Given the description of an element on the screen output the (x, y) to click on. 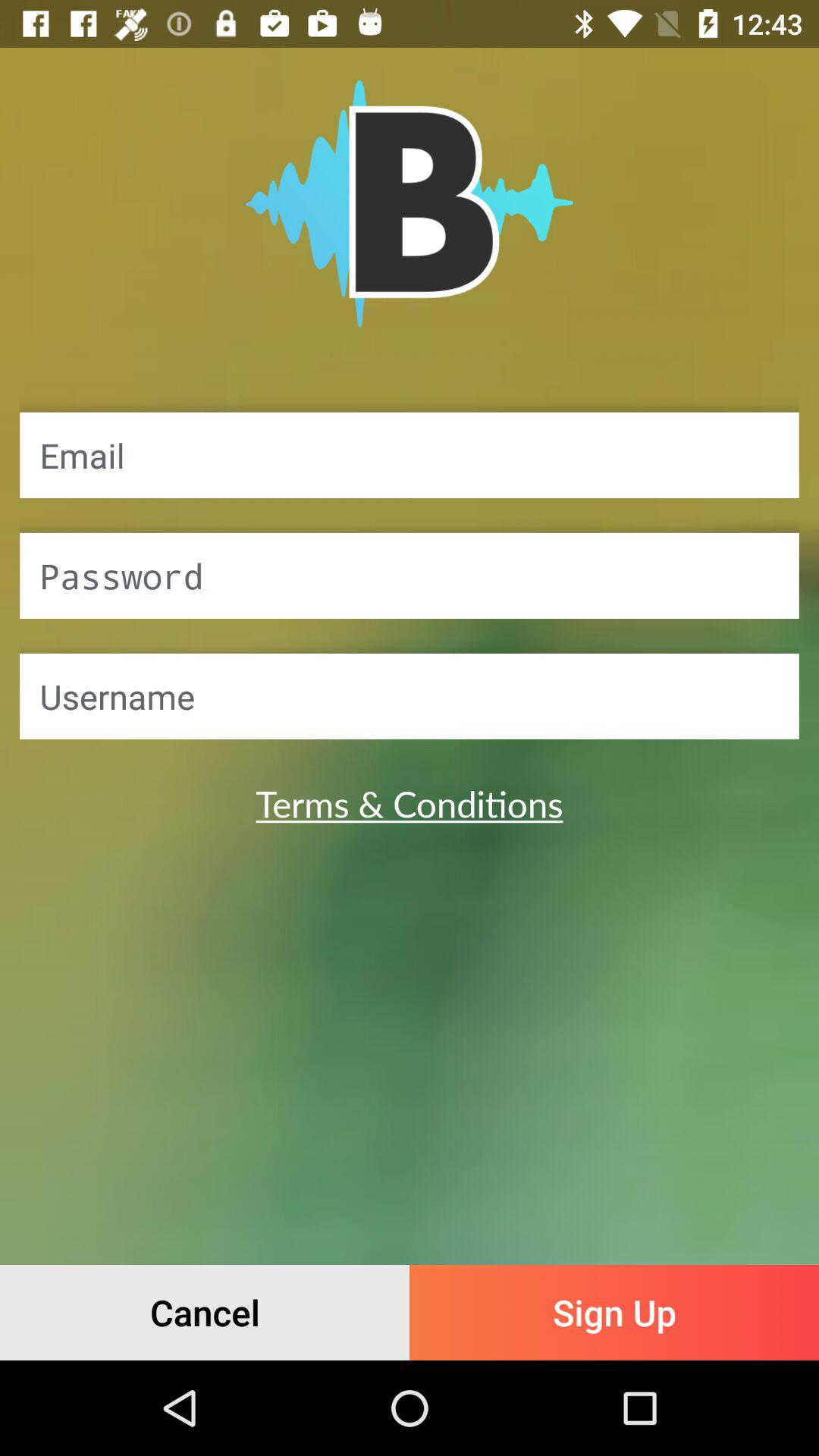
open icon to the left of sign up item (204, 1312)
